Given the description of an element on the screen output the (x, y) to click on. 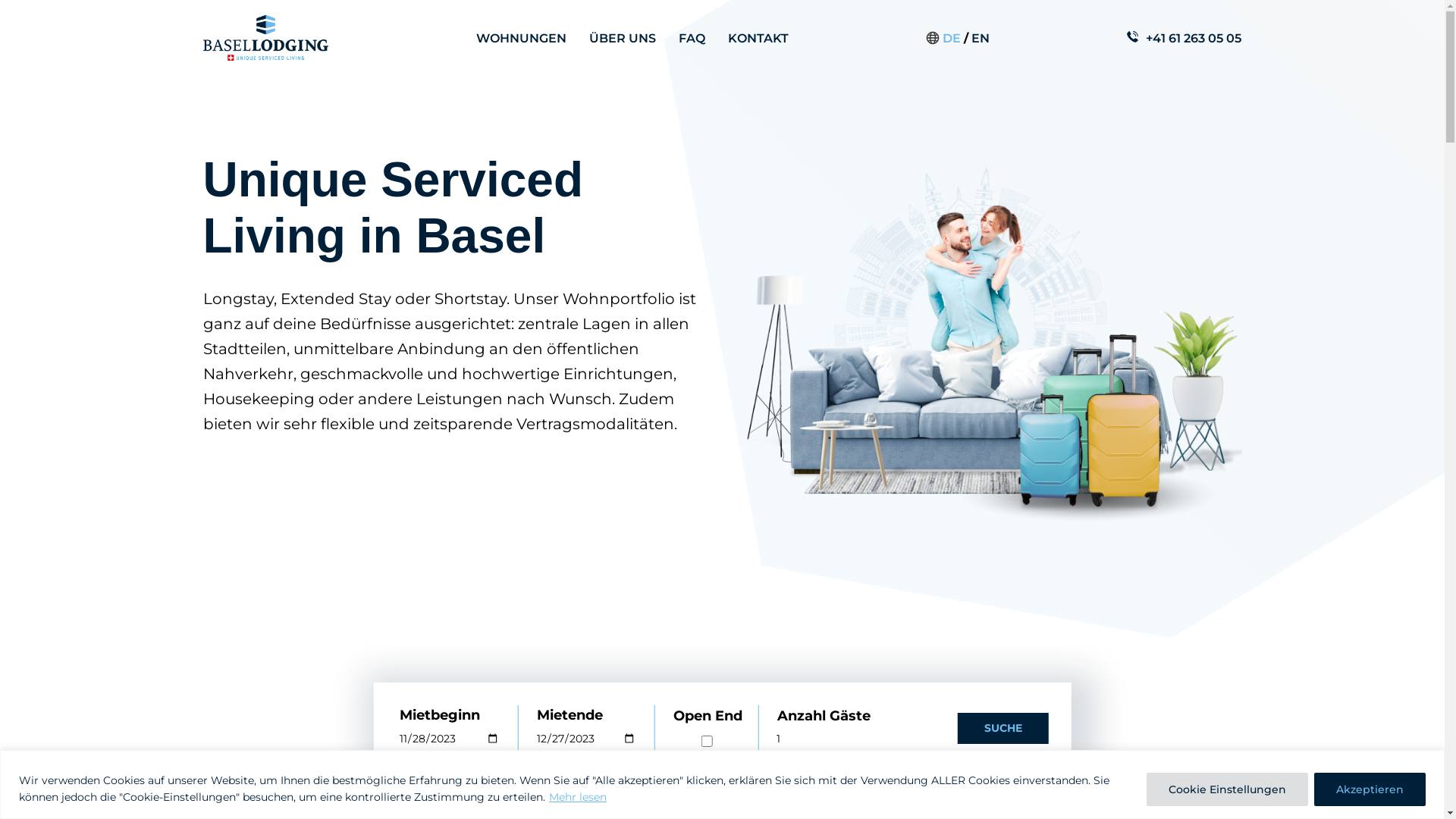
Mehr lesen Element type: text (577, 795)
EN Element type: text (980, 37)
FAQ Element type: text (691, 37)
Cookie Einstellungen Element type: text (1227, 788)
+41 61 263 05 05 Element type: text (1193, 37)
Akzeptieren Element type: text (1369, 788)
KONTAKT Element type: text (758, 37)
SUCHE Element type: text (1002, 727)
DE Element type: text (951, 37)
WOHNUNGEN Element type: text (521, 37)
